Given the description of an element on the screen output the (x, y) to click on. 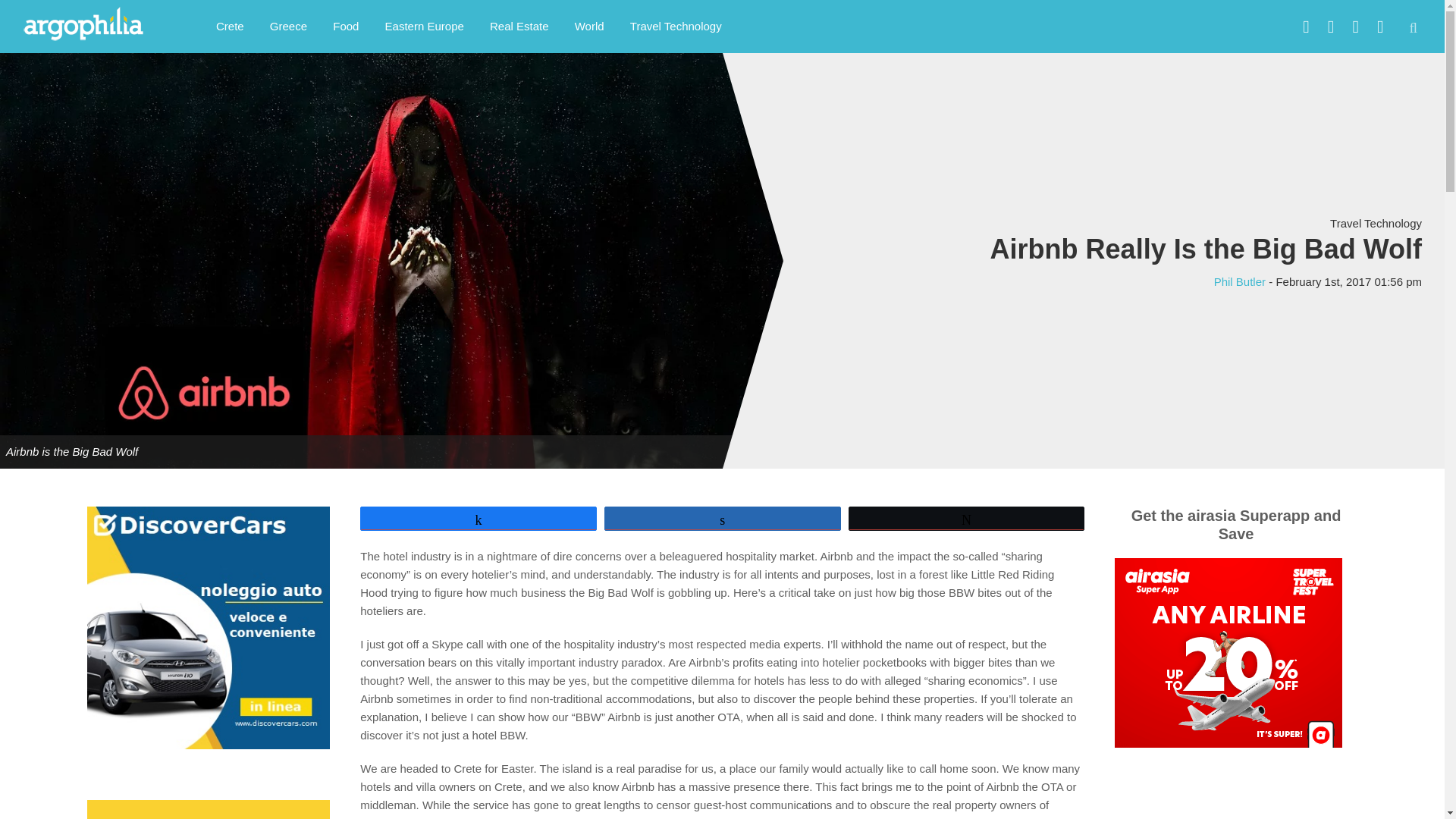
Eastern Europe (425, 26)
GetYourGuide Widget (1235, 815)
Phil Butler (1239, 282)
Real Estate (519, 26)
World (589, 26)
Food (345, 26)
Travel Technology (675, 26)
Crete (230, 26)
Travel Technology (1376, 223)
Posts by Phil Butler (1239, 282)
Greece (288, 26)
Argophilia (90, 24)
